Given the description of an element on the screen output the (x, y) to click on. 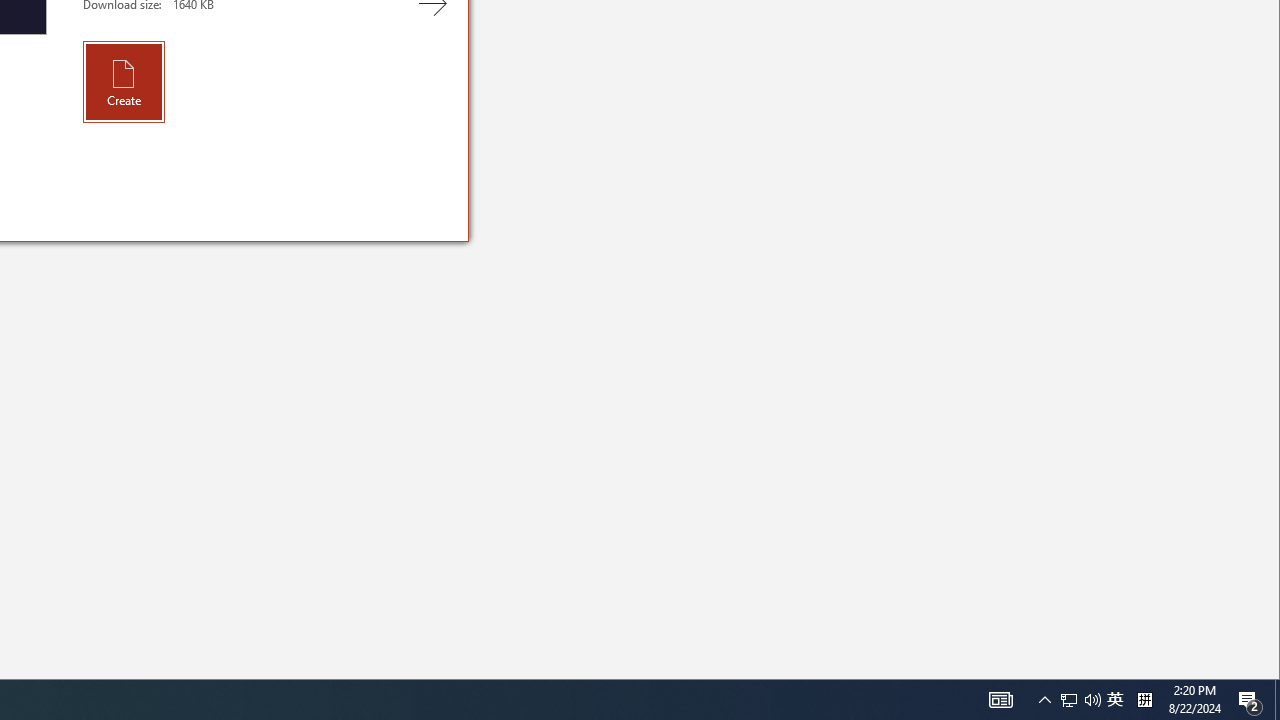
Create (124, 82)
